Given the description of an element on the screen output the (x, y) to click on. 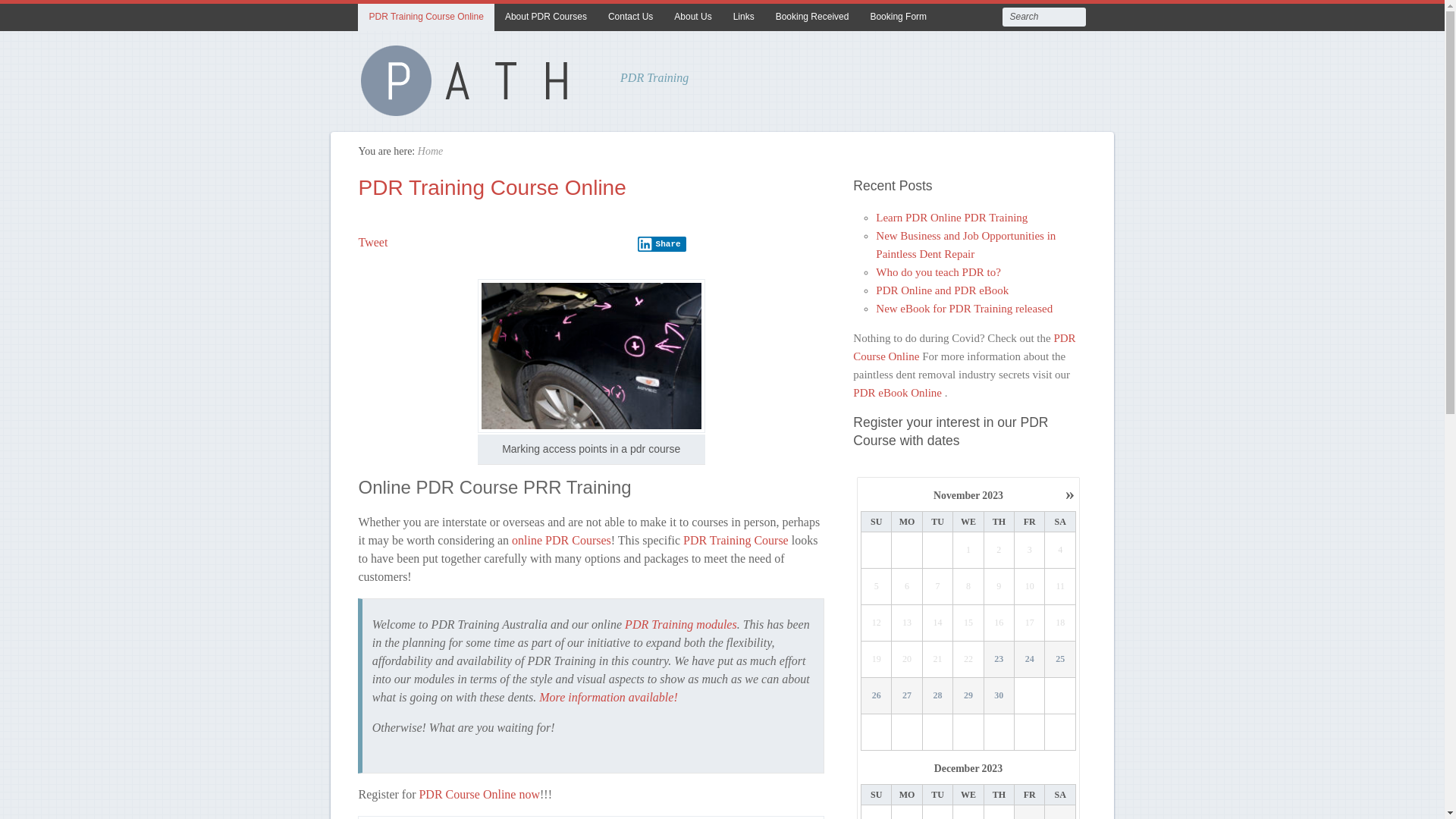
PDR Course Online now Element type: text (478, 793)
25 Element type: text (1060, 659)
  Element type: text (906, 732)
Marking access points in a pdr course Element type: hover (591, 356)
28 Element type: text (937, 695)
Who do you teach PDR to? Element type: text (938, 272)
PDR Training modules Element type: text (680, 624)
26 Element type: text (876, 695)
23 Element type: text (998, 658)
28 Element type: text (937, 695)
  Element type: text (1029, 695)
3 Element type: text (1029, 550)
18 Element type: text (1060, 623)
24 Element type: text (1029, 658)
  Element type: text (1060, 695)
Booking Received Element type: text (812, 17)
24 Element type: text (1029, 659)
30 Element type: text (998, 695)
29 Element type: text (968, 695)
5 Element type: text (876, 586)
  Element type: text (999, 732)
17 Element type: text (1029, 623)
13 Element type: text (906, 623)
11 Element type: text (1060, 586)
20 Element type: text (906, 659)
PDR Training Course Online Element type: text (491, 187)
  Element type: text (1029, 732)
27 Element type: text (907, 695)
21 Element type: text (937, 659)
PDR eBook Online Element type: text (898, 392)
15 Element type: text (968, 623)
Booking Form Element type: text (898, 17)
Learn how to do Paintless Dent Repair Element type: hover (471, 109)
online PDR Courses Element type: text (561, 539)
23 Element type: text (999, 659)
1 Element type: text (968, 550)
Learn PDR Online PDR Training Element type: text (951, 217)
PDR Training Course Element type: text (735, 539)
  Element type: text (968, 732)
  Element type: text (876, 550)
New Business and Job Opportunities in Paintless Dent Repair Element type: text (965, 244)
7 Element type: text (937, 586)
New eBook for PDR Training released Element type: text (963, 308)
Share Element type: text (661, 243)
Tweet Element type: text (372, 241)
  Element type: text (906, 550)
14 Element type: text (937, 623)
19 Element type: text (876, 659)
6 Element type: text (906, 586)
Contact Us Element type: text (630, 17)
PDR Training Course Online Element type: text (425, 17)
Search Element type: text (29, 15)
About PDR Courses Element type: text (545, 17)
12 Element type: text (876, 623)
9 Element type: text (999, 586)
2 Element type: text (999, 550)
26 Element type: text (876, 695)
About Us Element type: text (692, 17)
30 Element type: text (999, 695)
More information available! Element type: text (608, 696)
  Element type: text (937, 732)
Links Element type: text (743, 17)
22 Element type: text (968, 659)
  Element type: text (937, 550)
  Element type: text (876, 732)
27 Element type: text (906, 695)
16 Element type: text (999, 623)
PDR Online and PDR eBook Element type: text (941, 290)
25 Element type: text (1060, 658)
  Element type: text (1060, 732)
PDR Course Online Element type: text (964, 347)
8 Element type: text (968, 586)
10 Element type: text (1029, 586)
29 Element type: text (968, 695)
4 Element type: text (1060, 550)
